Given the description of an element on the screen output the (x, y) to click on. 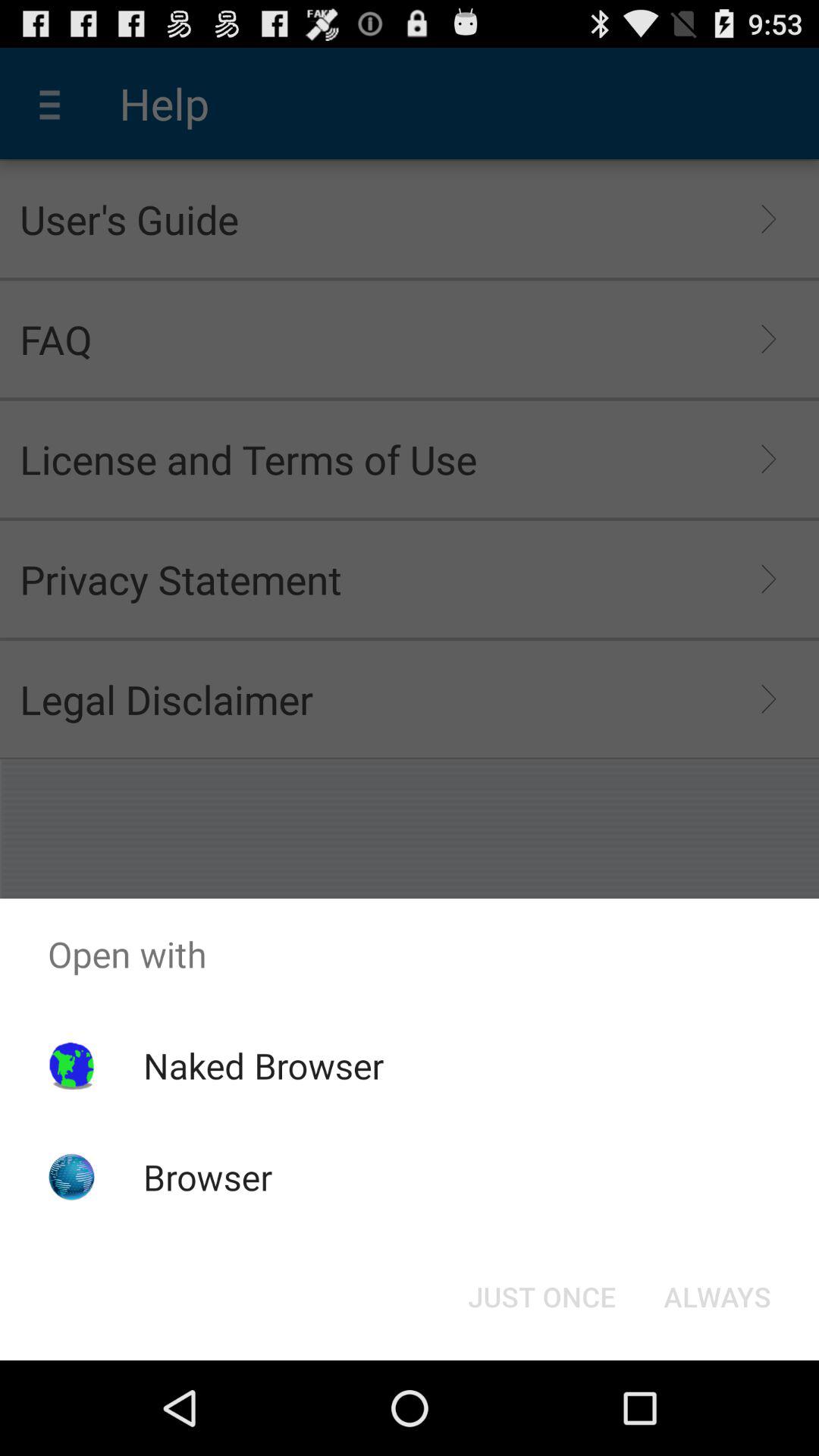
open the icon below the open with item (263, 1065)
